Given the description of an element on the screen output the (x, y) to click on. 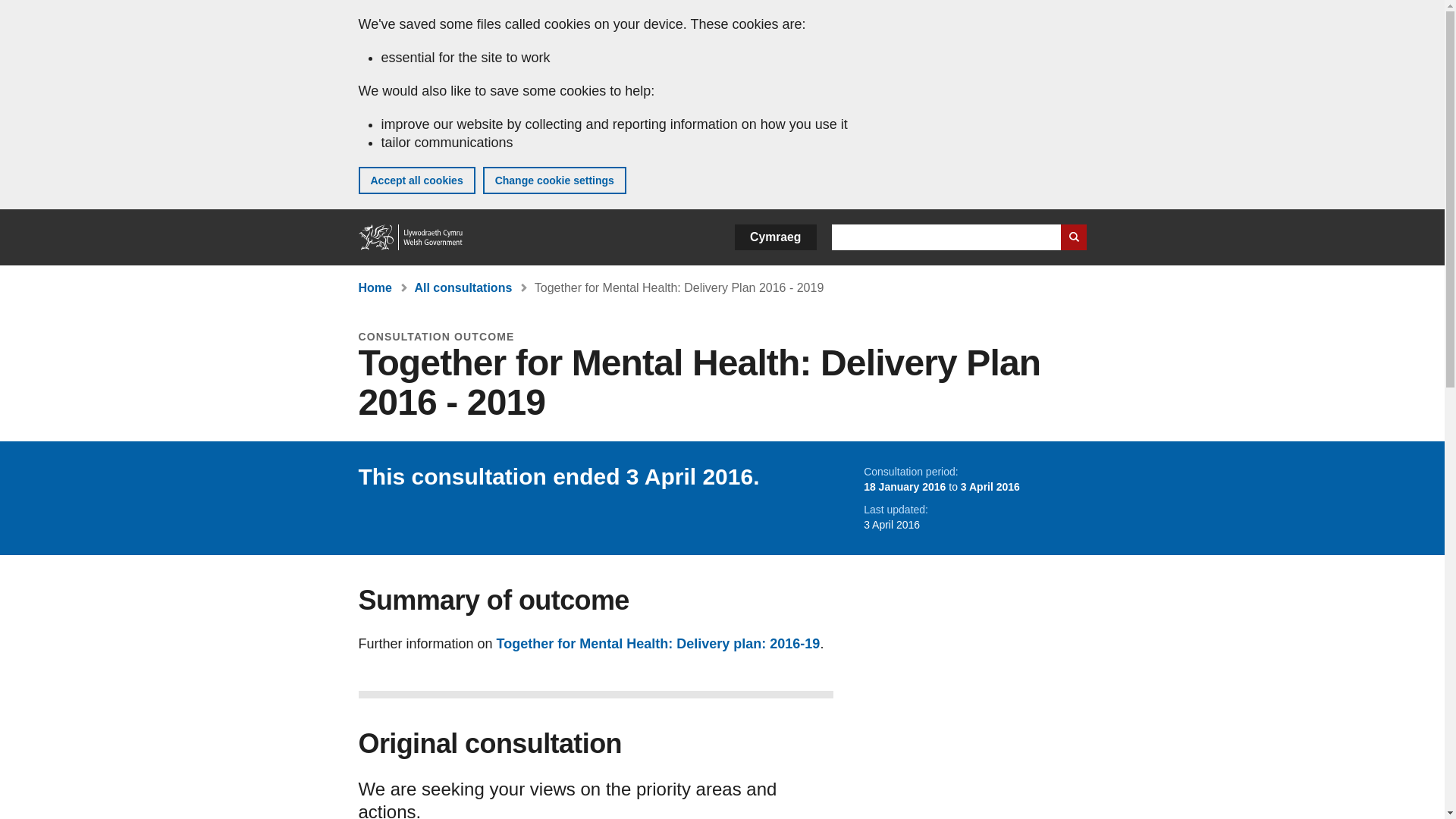
Accept all cookies (416, 180)
Skip to main content (22, 11)
All consultations (462, 287)
Search website (1072, 237)
Change cookie settings (554, 180)
Cymraeg (775, 237)
Together for Mental Health: Delivery plan: 2016-19 (658, 643)
Home (374, 287)
Together for Mental Health: Delivery Plan 2016 - 2019 (679, 287)
Home (411, 237)
